Given the description of an element on the screen output the (x, y) to click on. 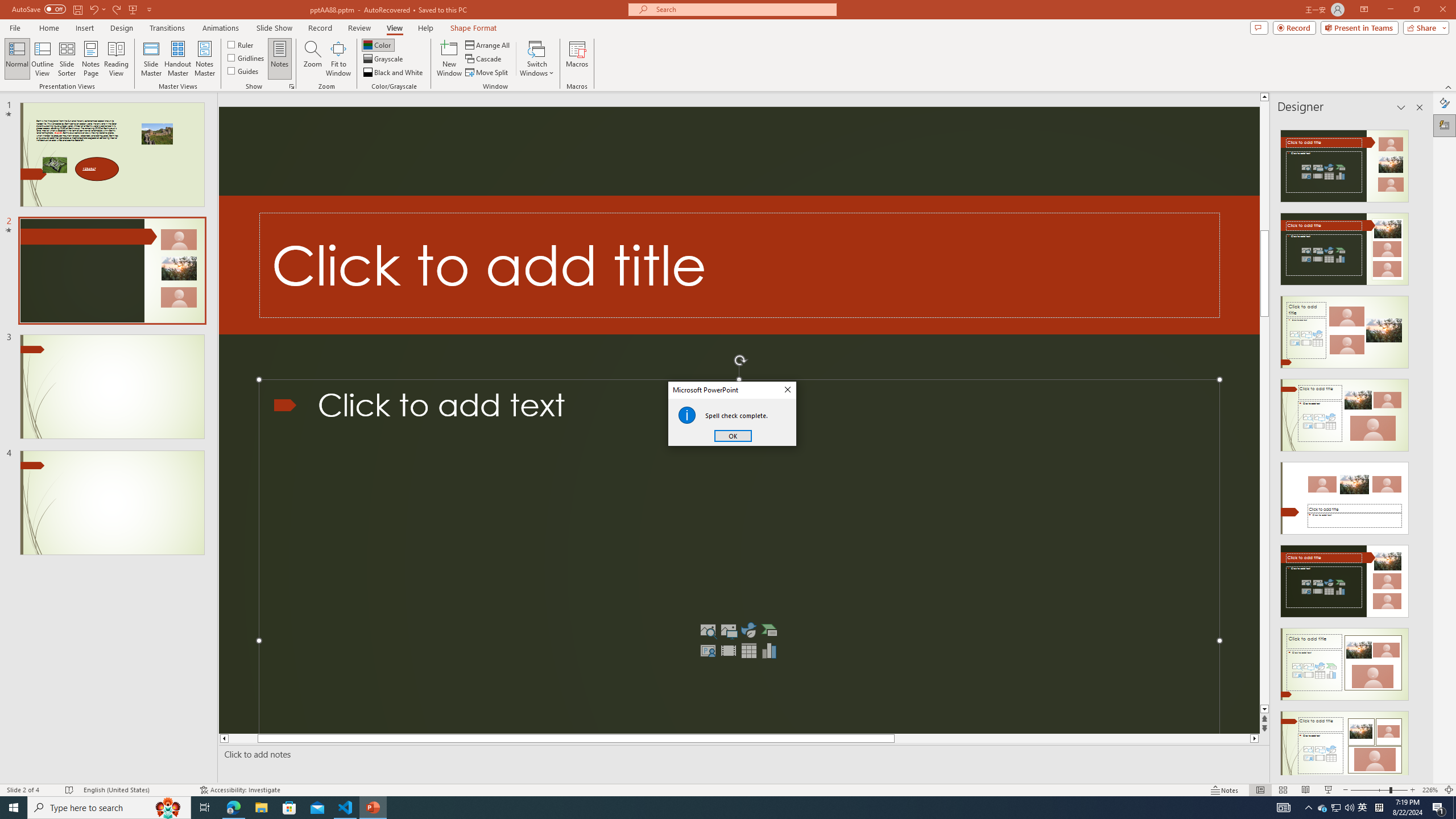
Insert Chart (769, 650)
Zoom... (312, 58)
Arrange All (488, 44)
